Given the description of an element on the screen output the (x, y) to click on. 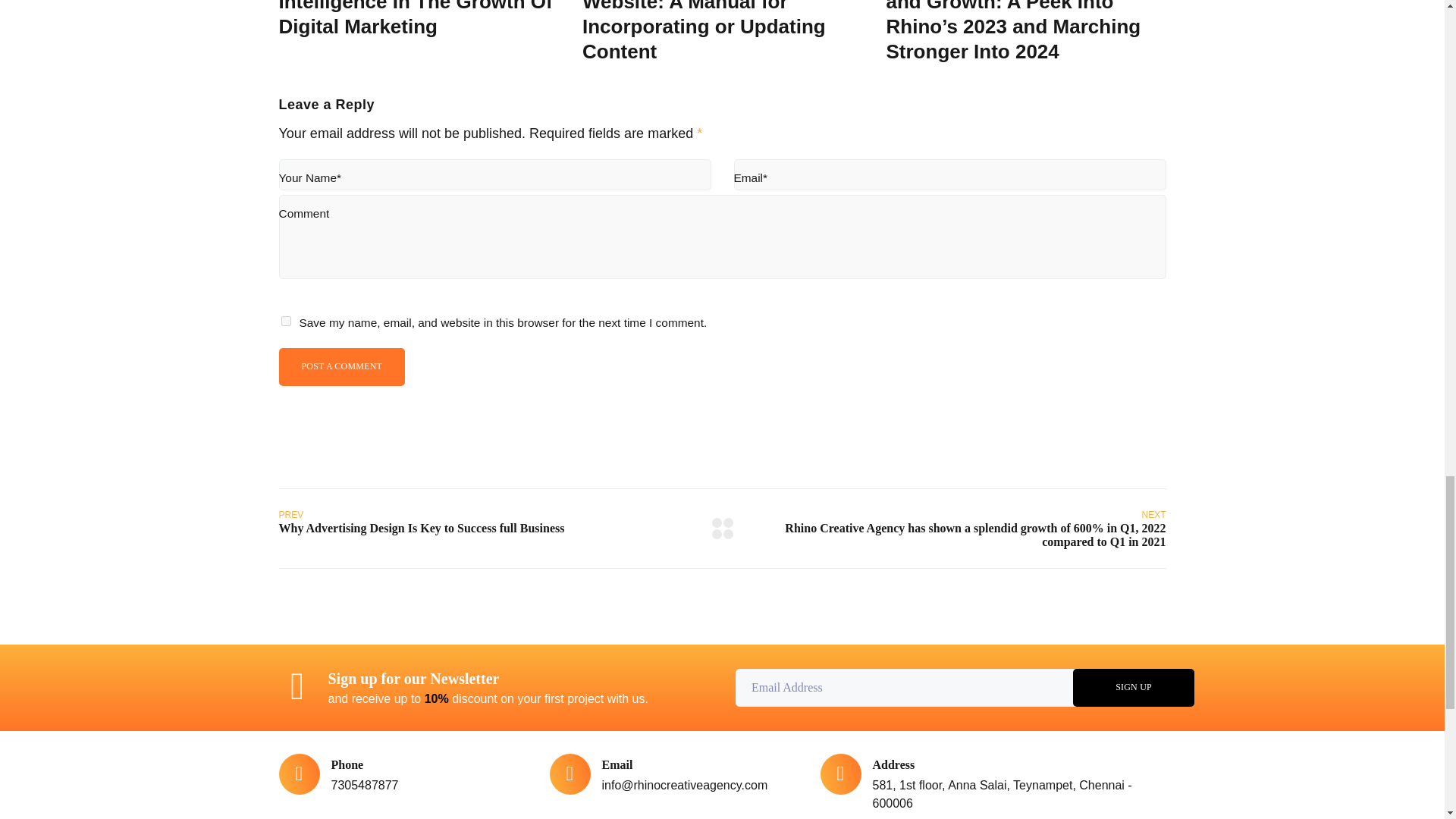
Sign up (1133, 687)
yes (285, 320)
